Given the description of an element on the screen output the (x, y) to click on. 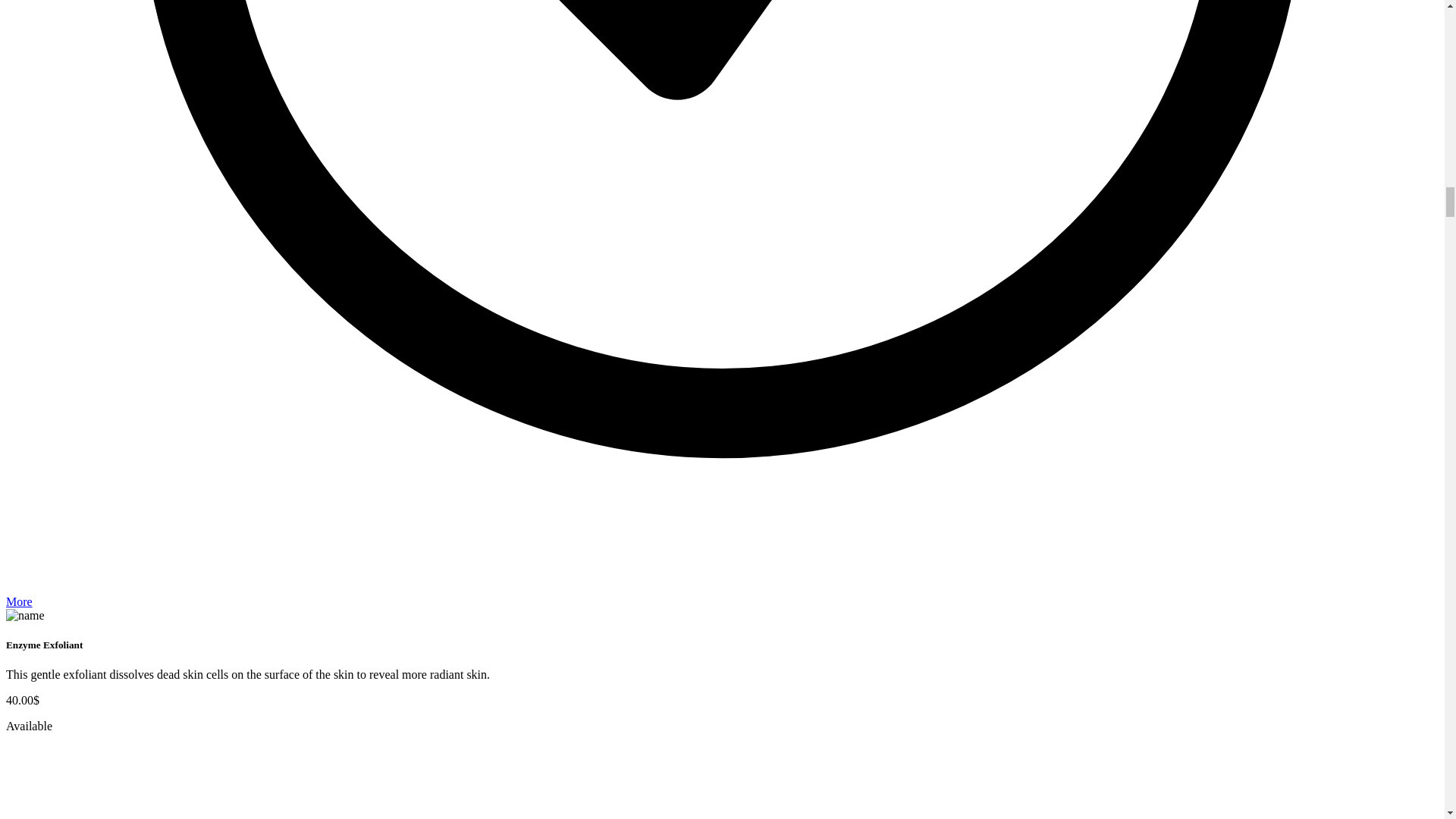
More (18, 601)
